Given the description of an element on the screen output the (x, y) to click on. 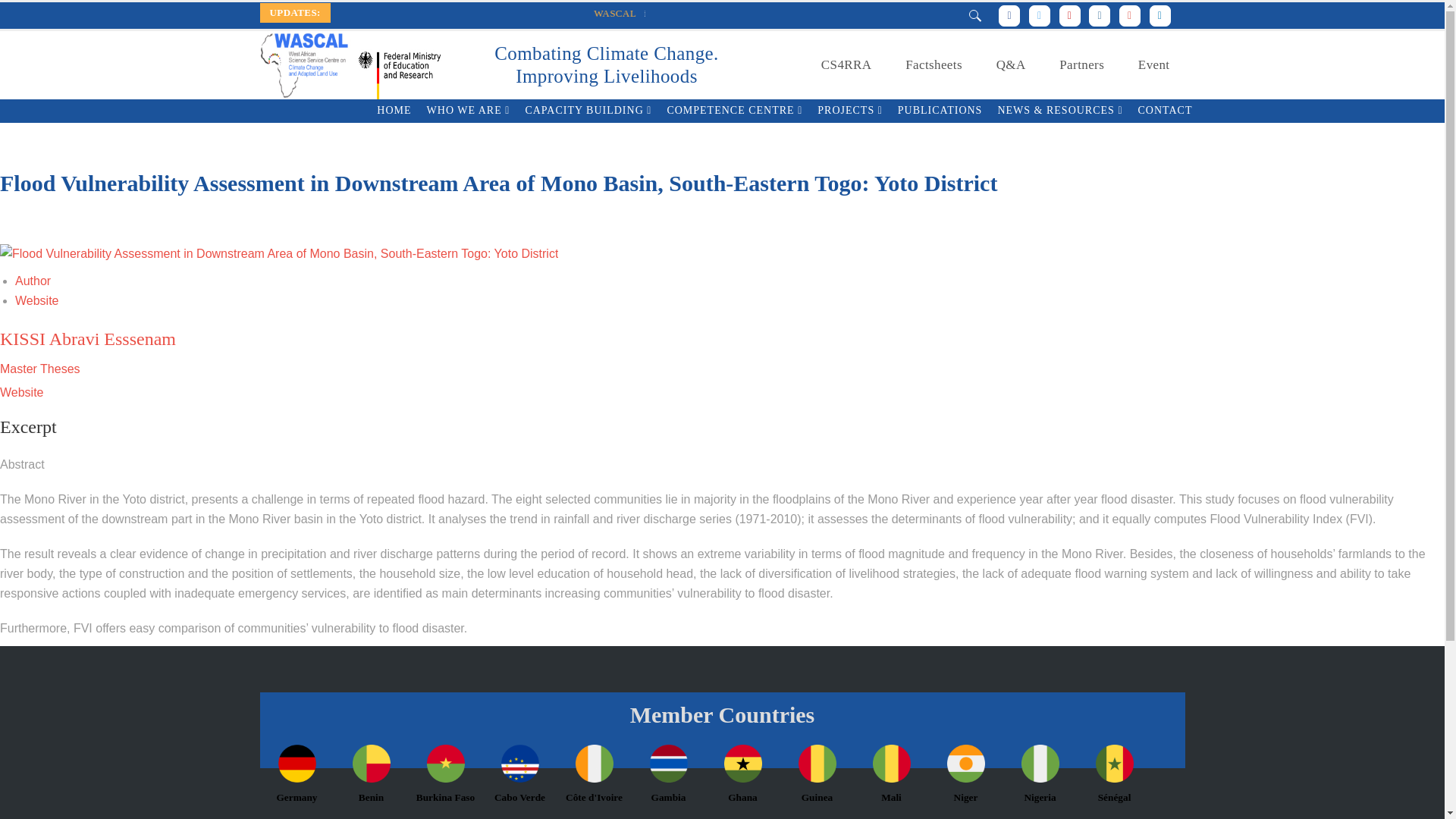
CAPACITY BUILDING (587, 110)
Factsheets (932, 64)
CS4RRA (846, 64)
COMPETENCE CENTRE (734, 110)
HOME (394, 110)
WHO WE ARE (468, 110)
Partners (1081, 64)
Search (940, 51)
Event (1153, 64)
